Given the description of an element on the screen output the (x, y) to click on. 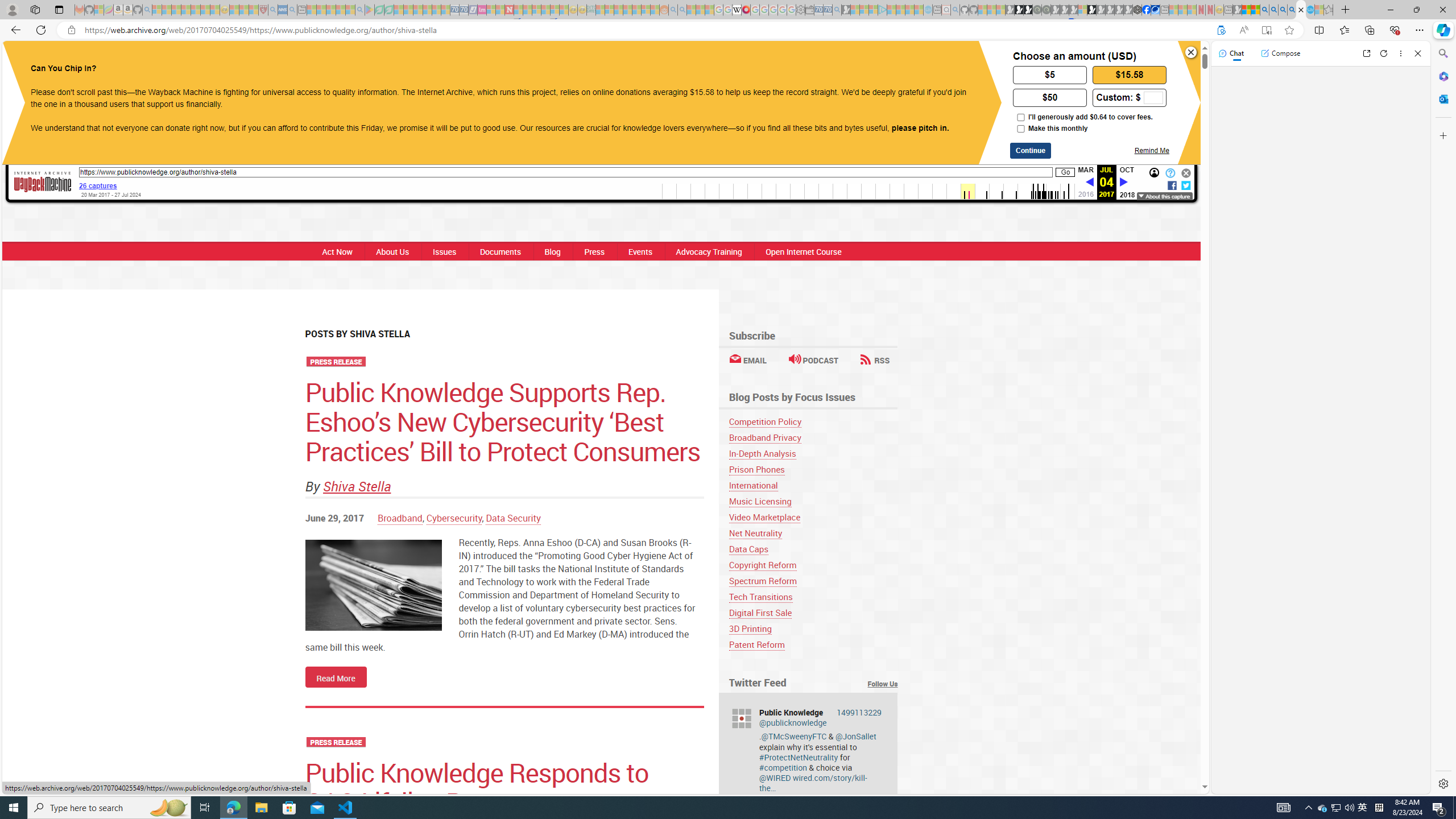
Services - Maintenance | Sky Blue Bikes - Sky Blue Bikes (1309, 9)
MAR (1085, 169)
Custom: $ (1129, 96)
Digital First Sale (813, 612)
publicknowledge (740, 718)
Competition Policy (813, 421)
FACEBOOK (647, 60)
About Us (392, 251)
